Given the description of an element on the screen output the (x, y) to click on. 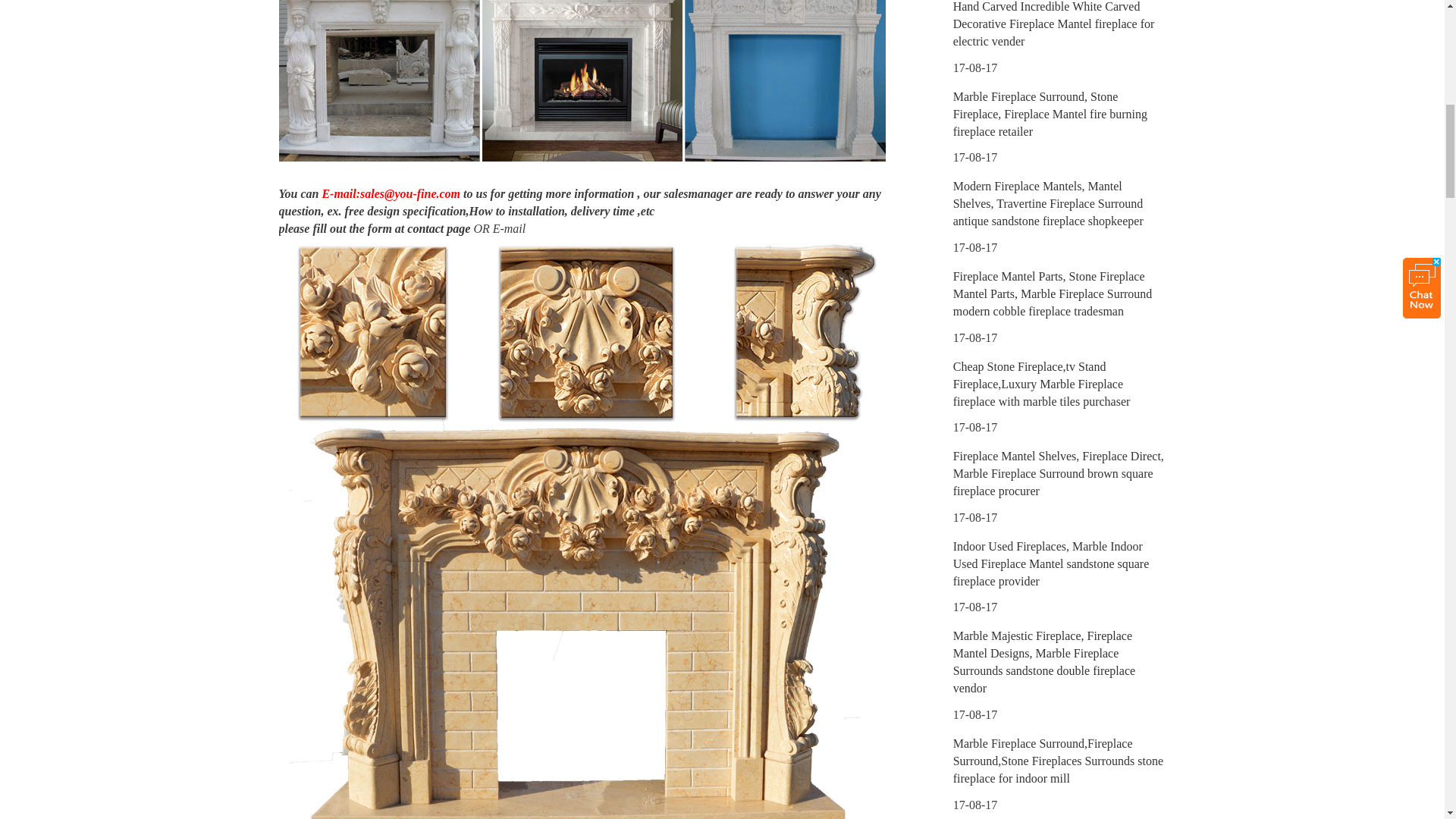
contact page (438, 228)
